Given the description of an element on the screen output the (x, y) to click on. 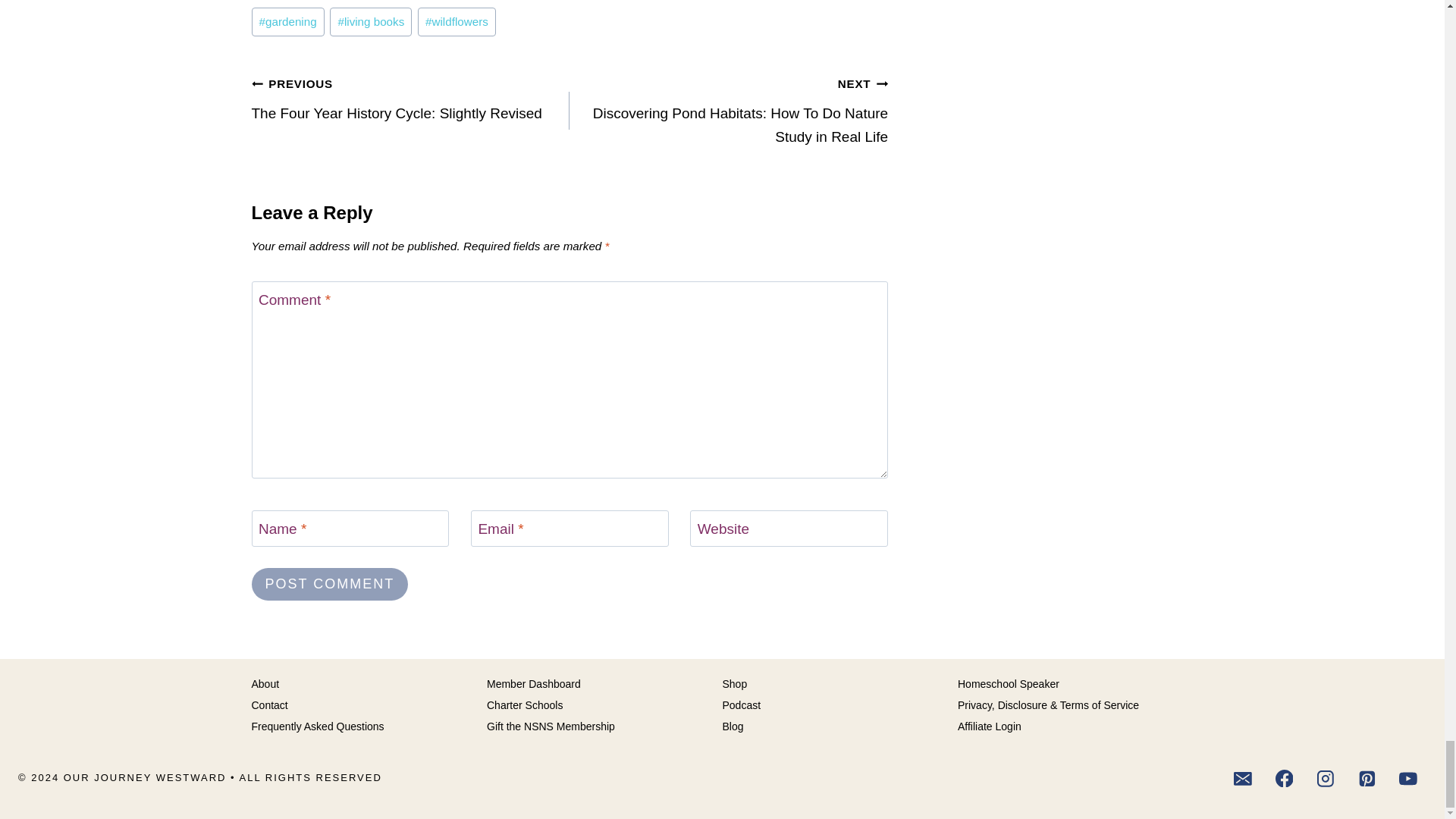
Post Comment (330, 584)
